Given the description of an element on the screen output the (x, y) to click on. 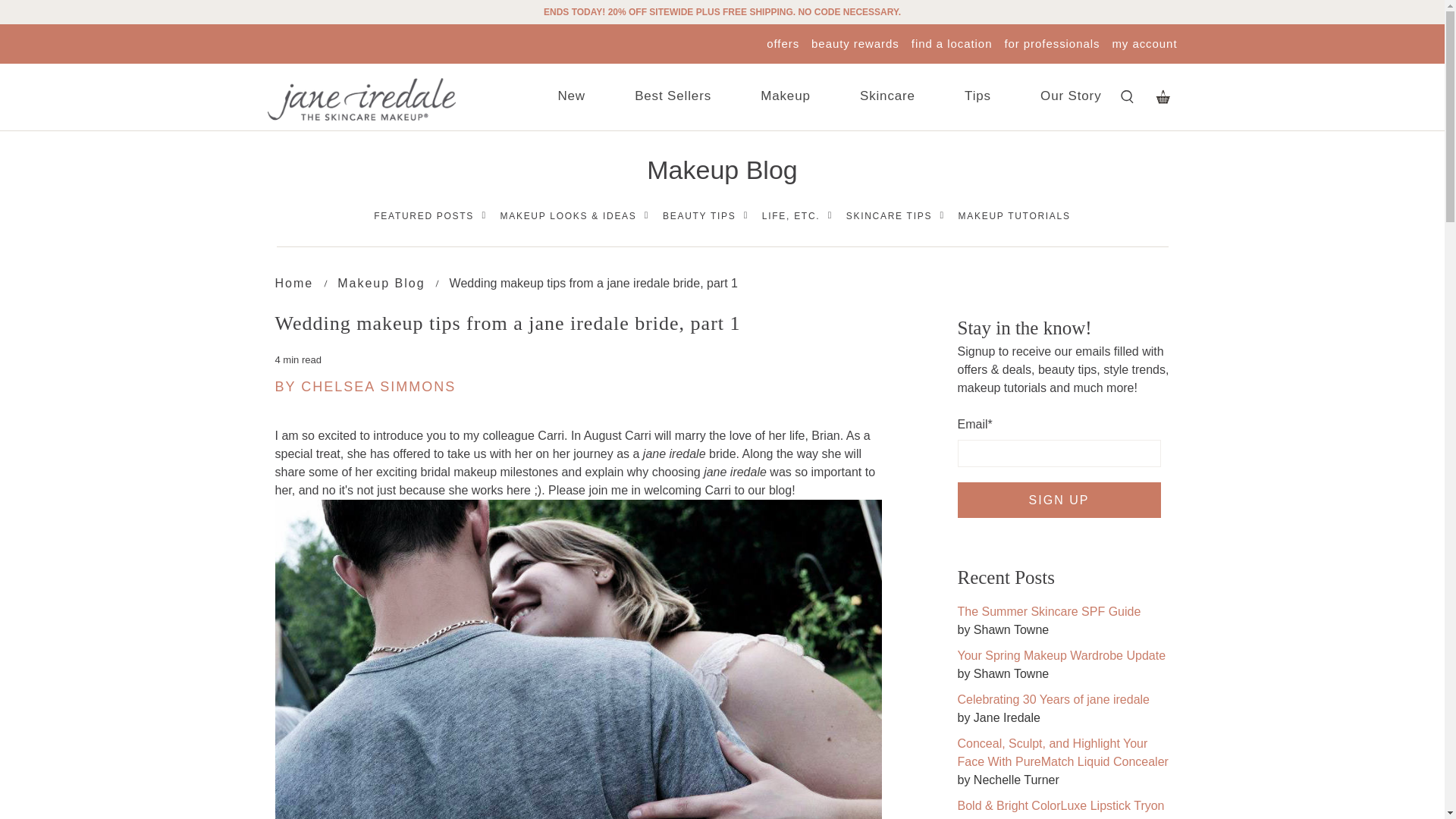
Your Spring Makeup Wardrobe Update (1061, 655)
jane iredale (294, 283)
The Summer Skincare SPF Guide (1048, 611)
find a location (951, 42)
offers (783, 42)
beauty rewards (854, 42)
for professionals (1051, 42)
my account (1144, 42)
jane iredale (360, 99)
Makeup (785, 97)
Best Sellers (673, 97)
Celebrating 30 Years of jane iredale (1053, 698)
Makeup Blog (381, 283)
